Given the description of an element on the screen output the (x, y) to click on. 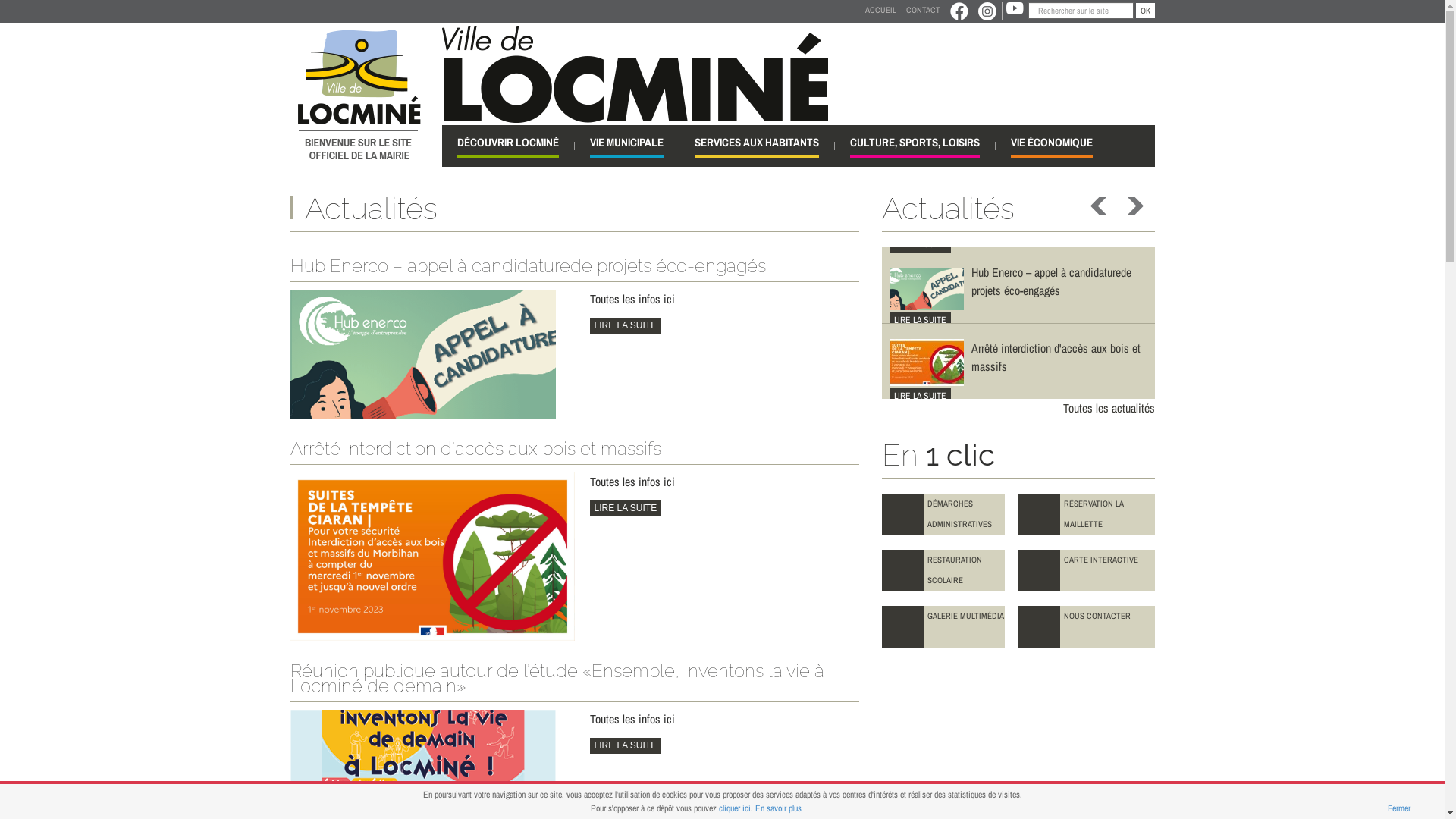
CARTE INTERACTIVE Element type: text (1085, 570)
LIRE LA SUITE Element type: text (625, 325)
Previous Element type: hover (1099, 206)
OK Element type: text (1144, 10)
RESTAURATION SCOLAIRE Element type: text (942, 570)
LIRE LA SUITE Element type: text (919, 320)
En savoir plus Element type: text (778, 808)
LIRE LA SUITE Element type: text (625, 745)
LIRE LA SUITE Element type: text (919, 244)
CULTURE, SPORTS, LOISIRS Element type: text (914, 145)
cliquer ici Element type: text (734, 808)
ACCUEIL Element type: text (880, 9)
Next Element type: hover (1132, 206)
LIRE LA SUITE Element type: text (625, 508)
NOUS CONTACTER Element type: text (1085, 626)
CONTACT Element type: text (921, 9)
VIE MUNICIPALE Element type: text (626, 145)
LIRE LA SUITE Element type: text (919, 396)
SERVICES AUX HABITANTS Element type: text (756, 145)
Fermer Element type: text (1398, 808)
